Given the description of an element on the screen output the (x, y) to click on. 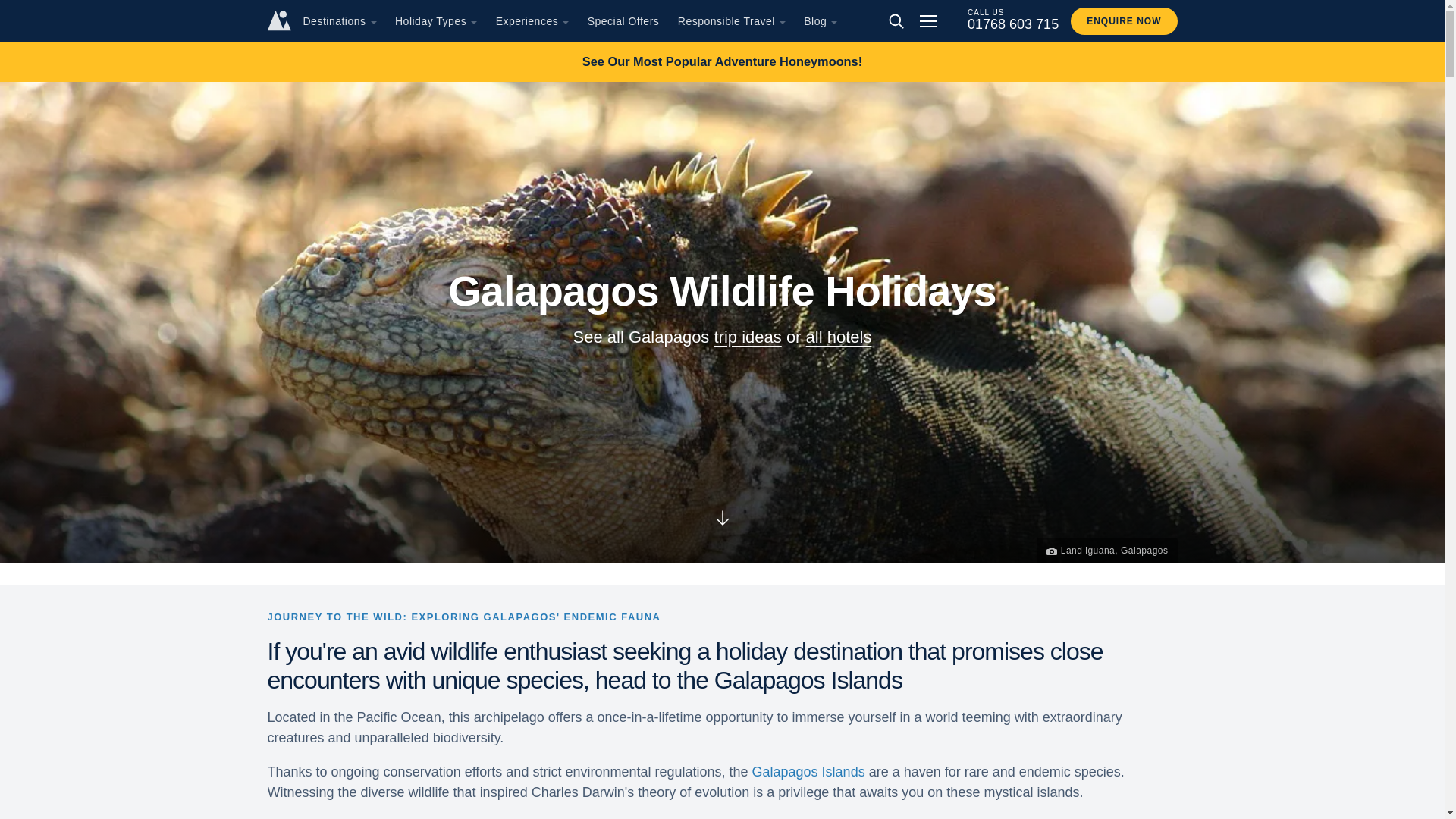
Destinations (334, 21)
